Given the description of an element on the screen output the (x, y) to click on. 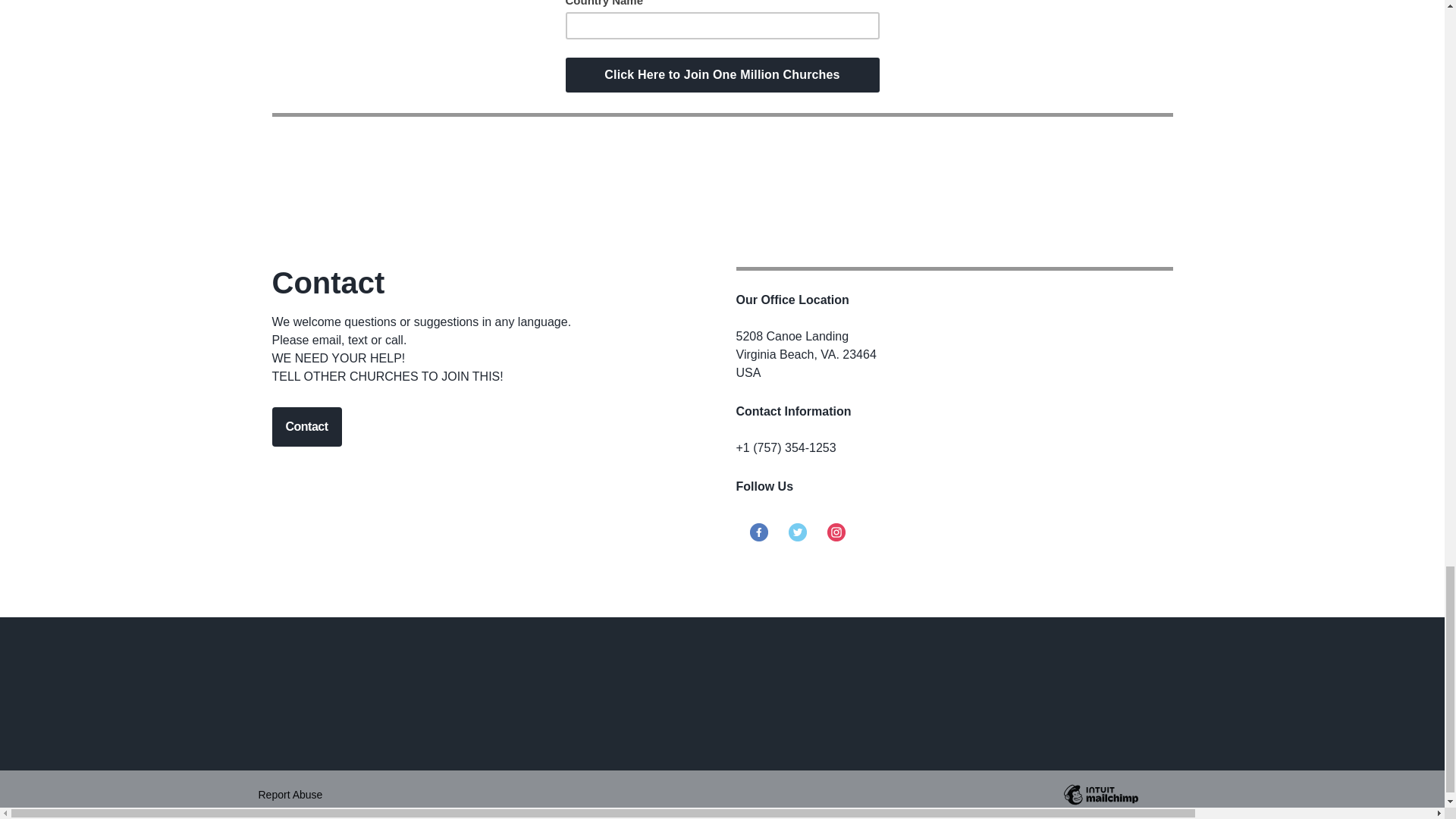
Contact (305, 426)
Report Abuse (289, 794)
Contact (305, 426)
Click Here to Join One Million Churches (722, 74)
Click Here to Join One Million Churches (722, 74)
